Given the description of an element on the screen output the (x, y) to click on. 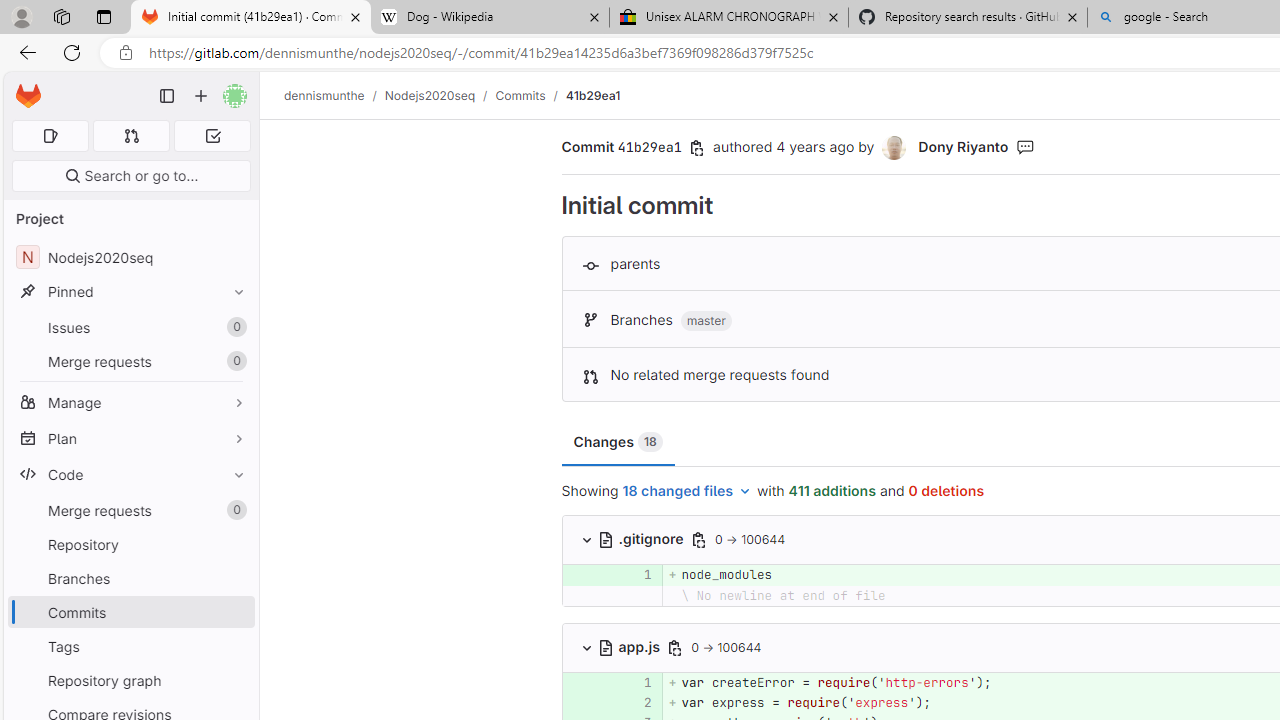
Code (130, 474)
Dony Riyanto's avatar (896, 148)
2 (637, 701)
Class: s16 gl-icon gl-button-icon  (674, 647)
dennismunthe/ (334, 95)
Pin Tags (234, 646)
Commits (520, 95)
Add a comment to this line  (587, 701)
Repository (130, 543)
Issues 0 (130, 327)
app.js  (630, 646)
Commits (130, 612)
